Given the description of an element on the screen output the (x, y) to click on. 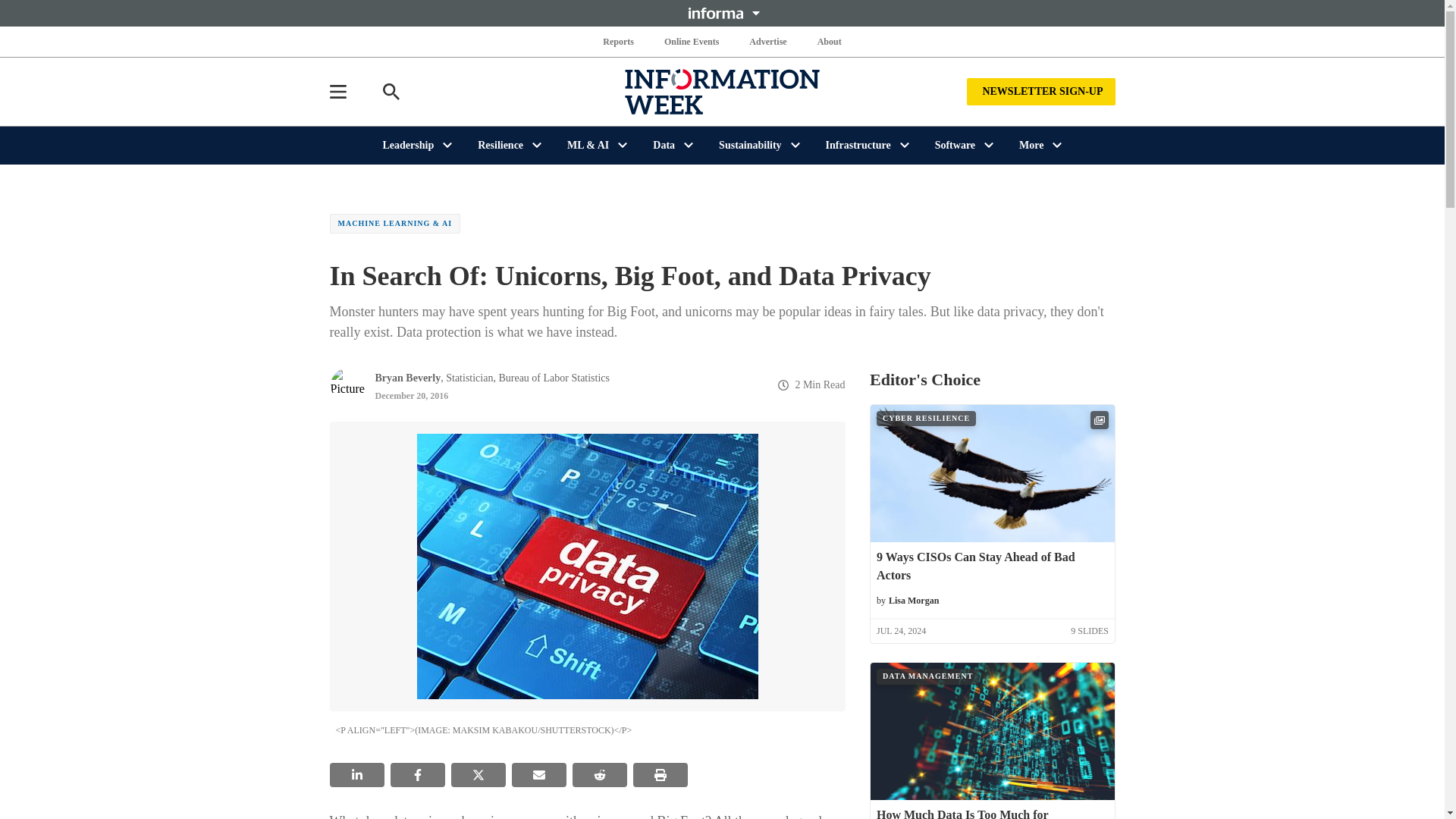
Advertise (767, 41)
InformationWeek (722, 91)
NEWSLETTER SIGN-UP (1040, 90)
Online Events (691, 41)
Reports (618, 41)
About (828, 41)
